Given the description of an element on the screen output the (x, y) to click on. 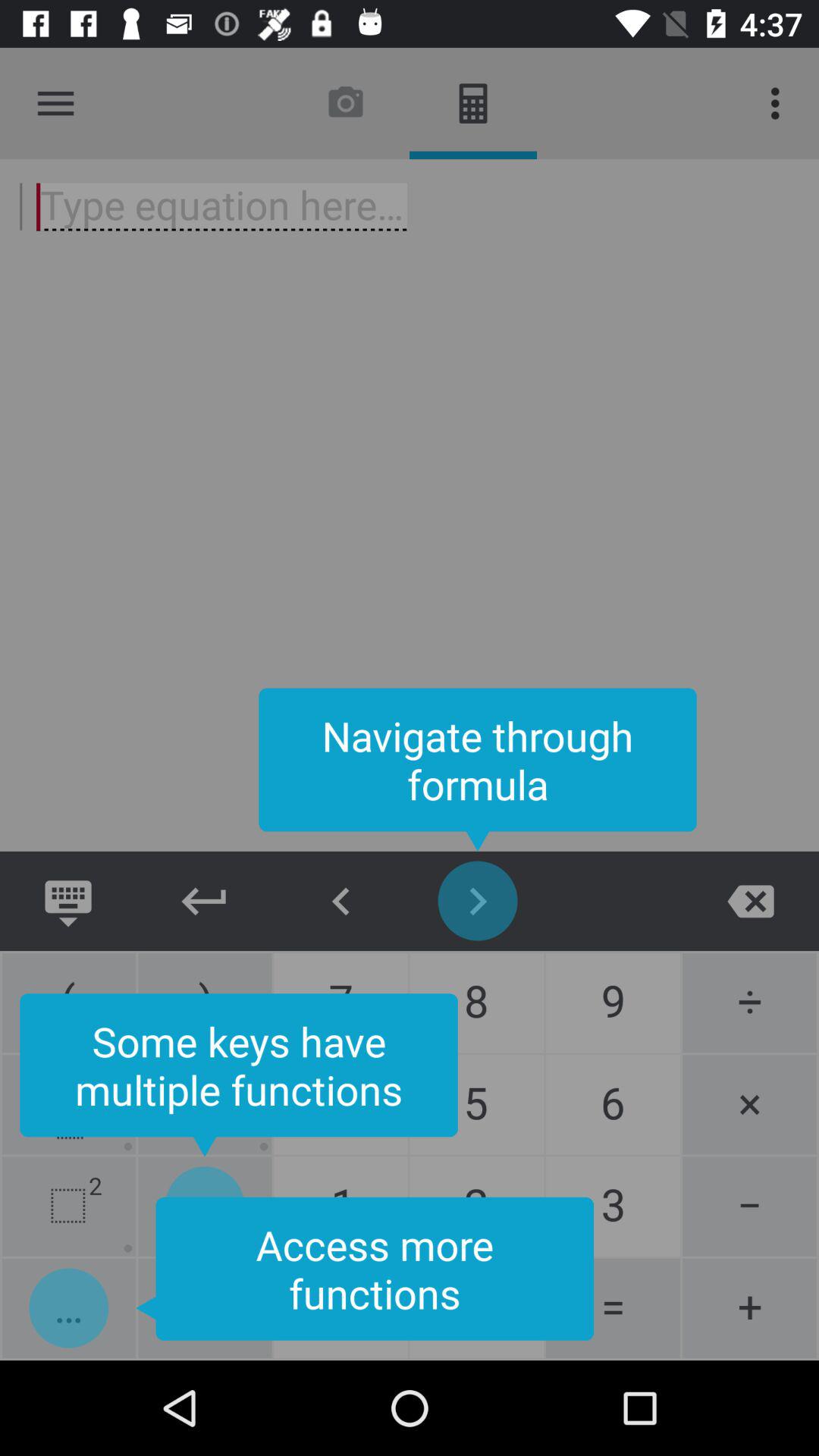
turn on item below the navigate through formula (750, 900)
